Given the description of an element on the screen output the (x, y) to click on. 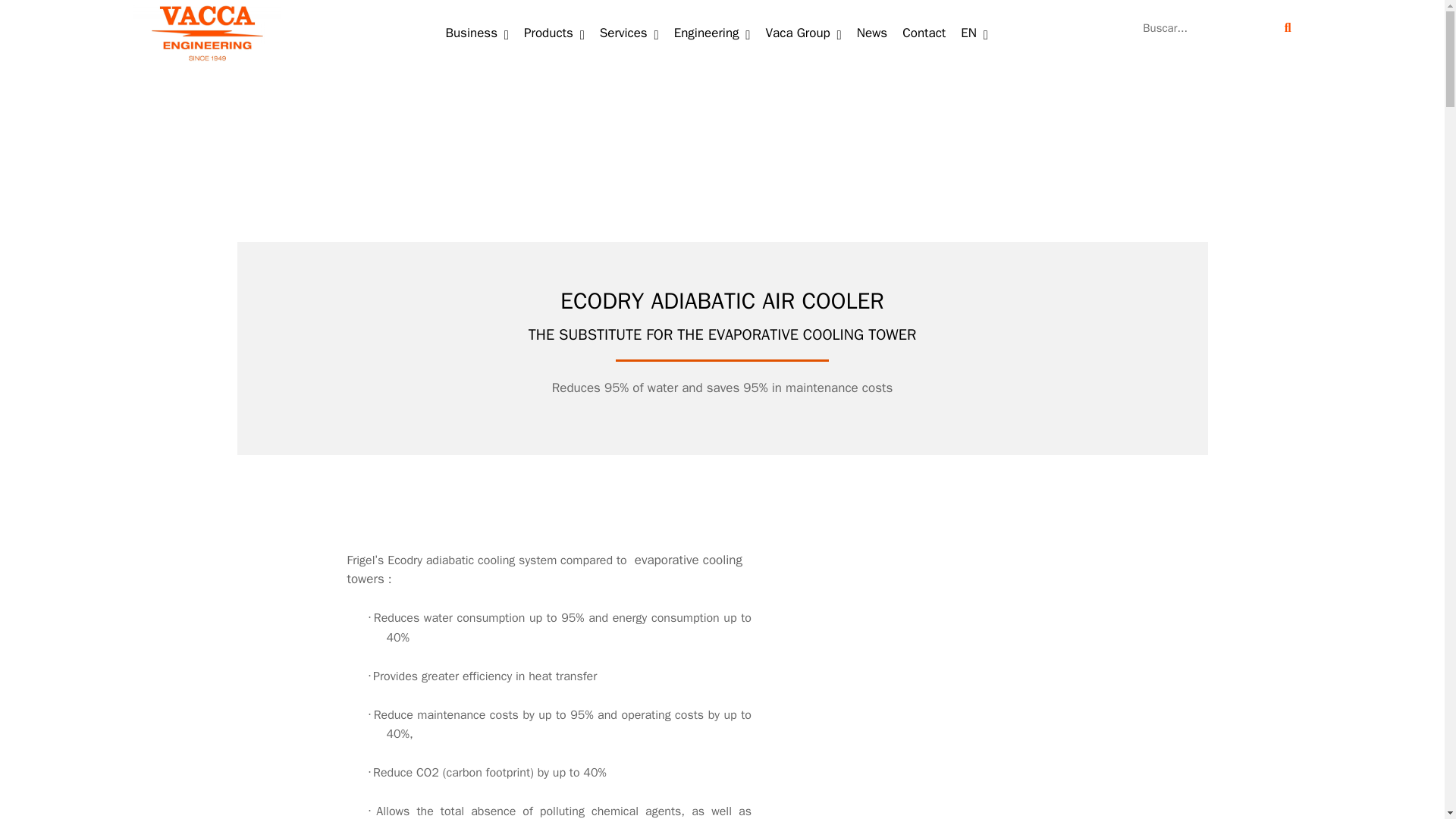
Products (554, 33)
EN (974, 33)
Engineering (712, 33)
Business (477, 33)
Services (629, 33)
